Given the description of an element on the screen output the (x, y) to click on. 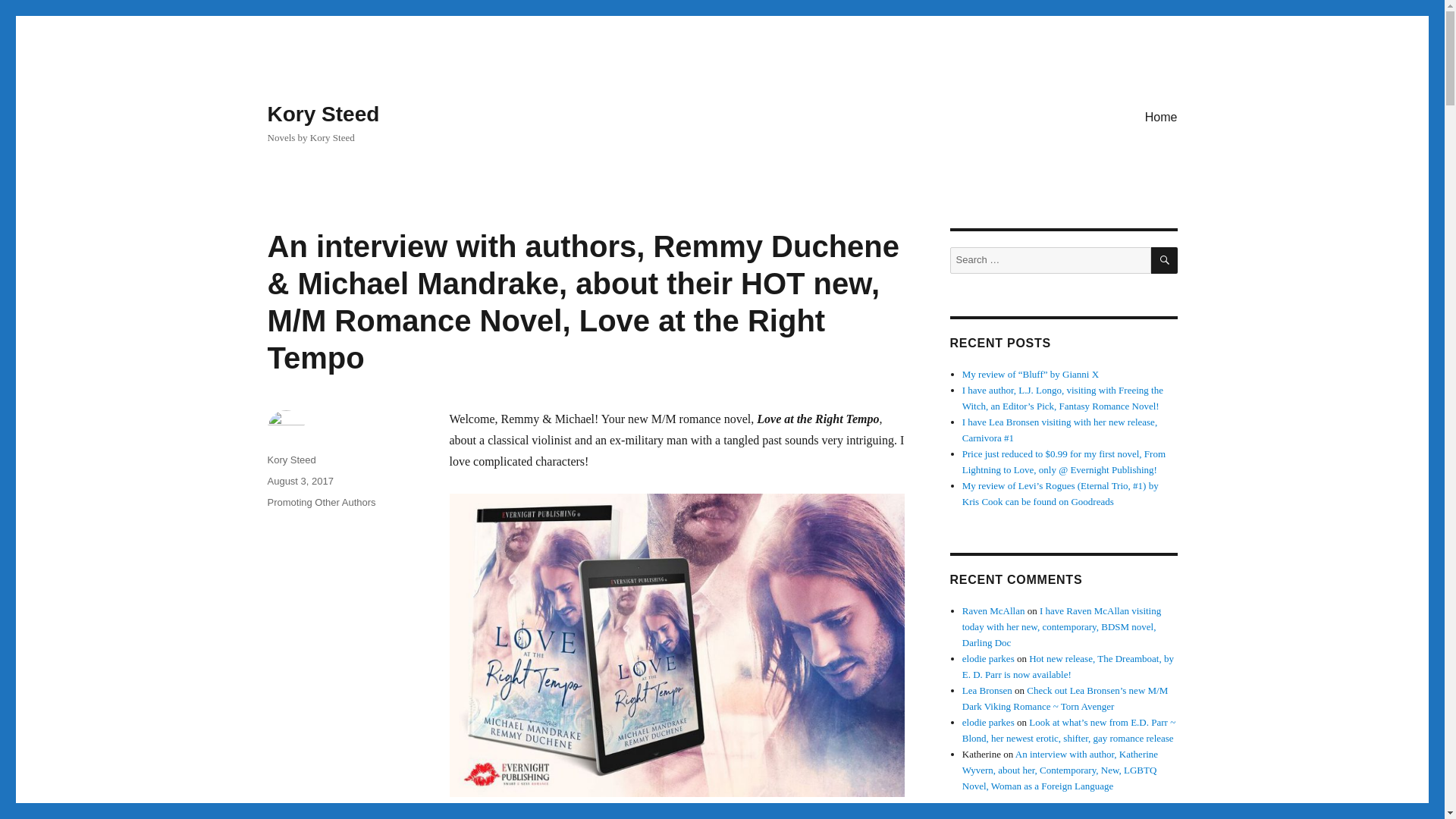
Kory Steed (322, 114)
SEARCH (1164, 260)
elodie parkes (988, 658)
Lea Bronsen (986, 690)
Kory Steed (290, 460)
Home (1161, 116)
August 3, 2017 (299, 480)
Raven McAllan (993, 610)
Promoting Other Authors (320, 501)
elodie parkes (988, 722)
